Given the description of an element on the screen output the (x, y) to click on. 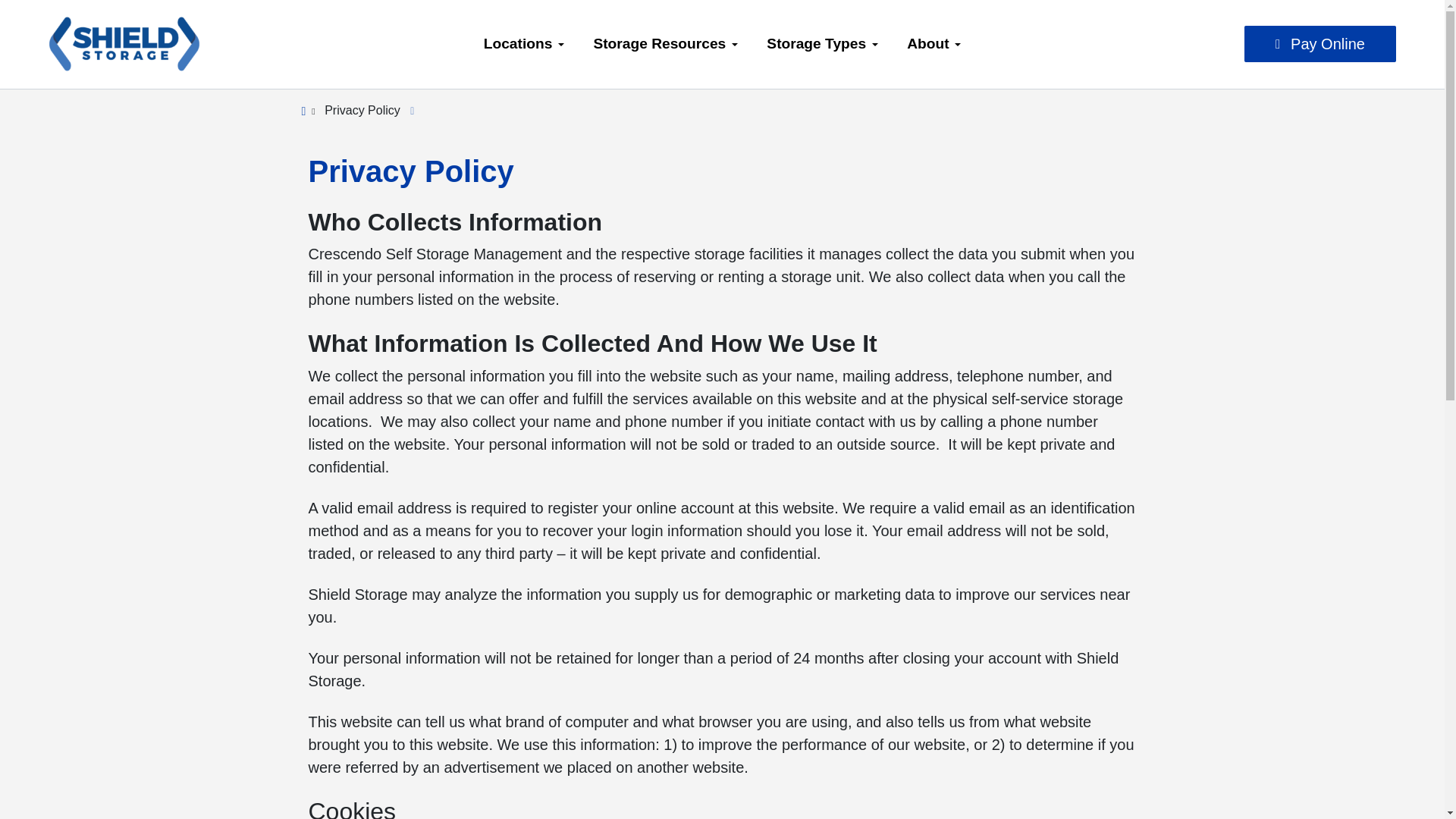
Storage Resources (665, 44)
Locations (523, 44)
Storage Types (822, 44)
Storage Types (822, 44)
Storage Resources (665, 44)
Locations (523, 44)
Pay Online (1320, 43)
About (933, 44)
